Given the description of an element on the screen output the (x, y) to click on. 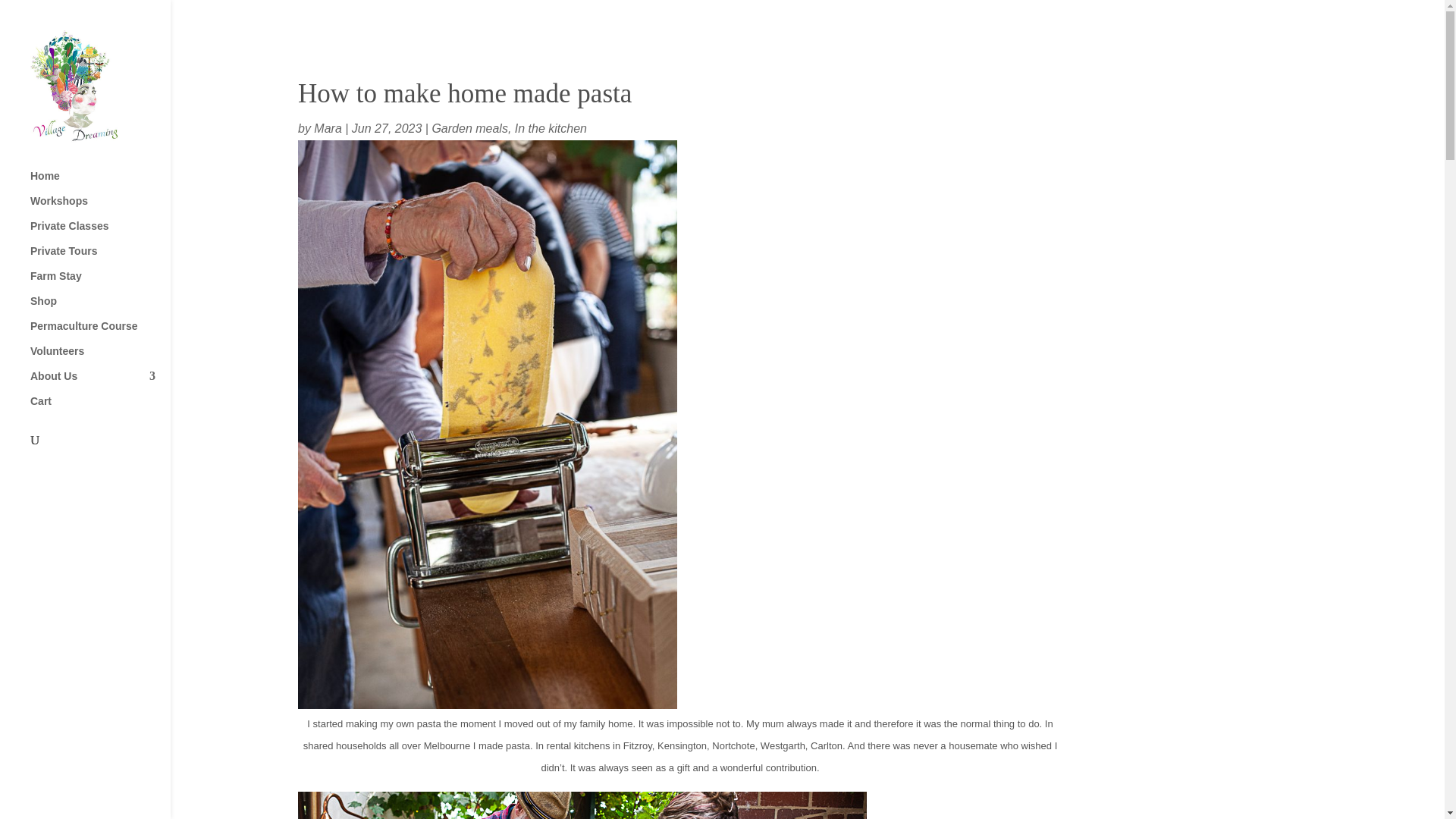
Volunteers (100, 358)
In the kitchen (550, 128)
Posts by Mara (327, 128)
Workshops (100, 207)
Private Tours (100, 258)
Shop (100, 308)
Garden meals (469, 128)
Permaculture Course (100, 333)
Farm Stay (100, 283)
About Us (100, 383)
Home (100, 182)
Mara (327, 128)
Private Classes (100, 232)
Cart (100, 407)
